Given the description of an element on the screen output the (x, y) to click on. 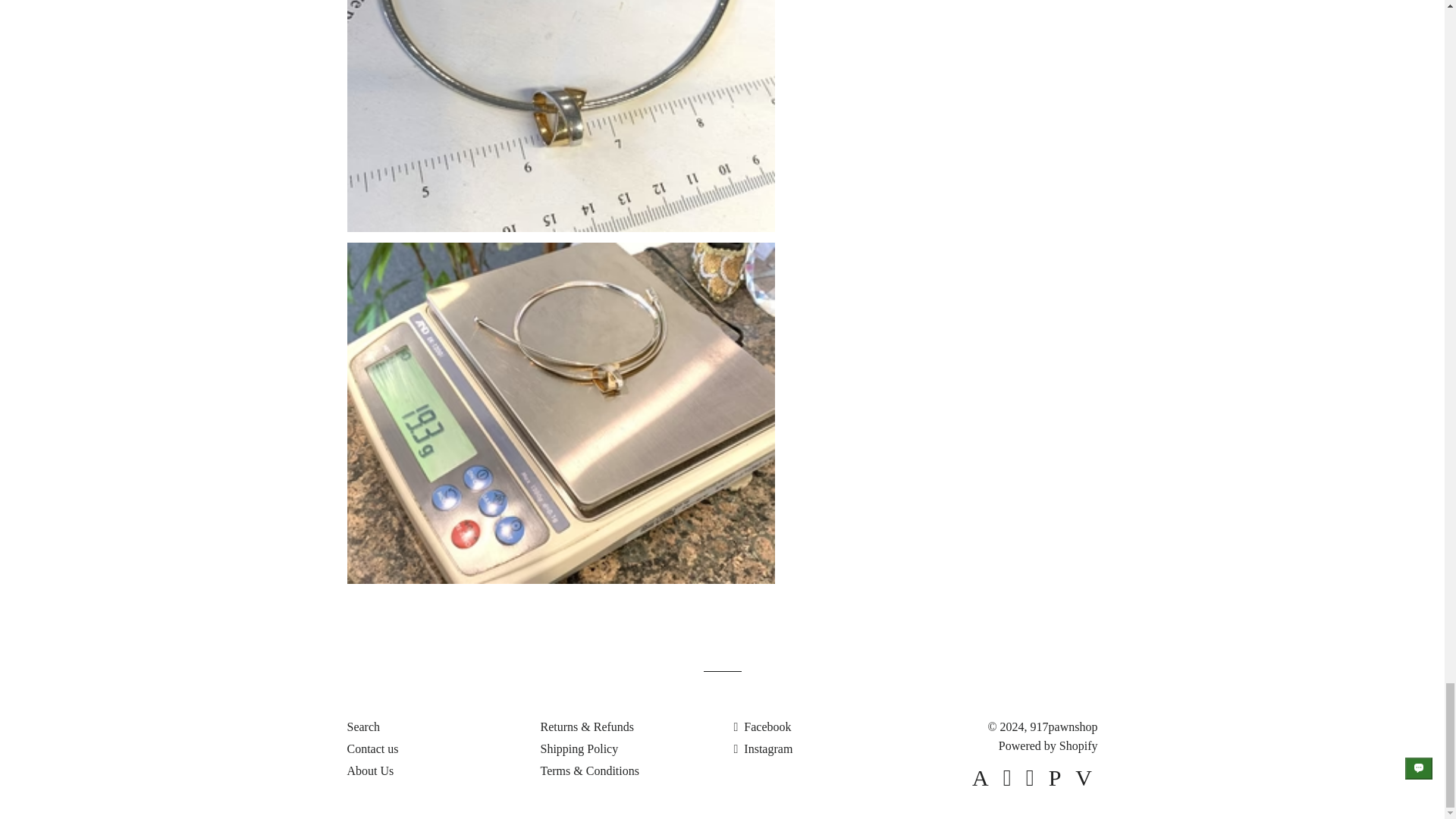
917pawnshop on Instagram (763, 748)
917pawnshop on Facebook (762, 726)
